Given the description of an element on the screen output the (x, y) to click on. 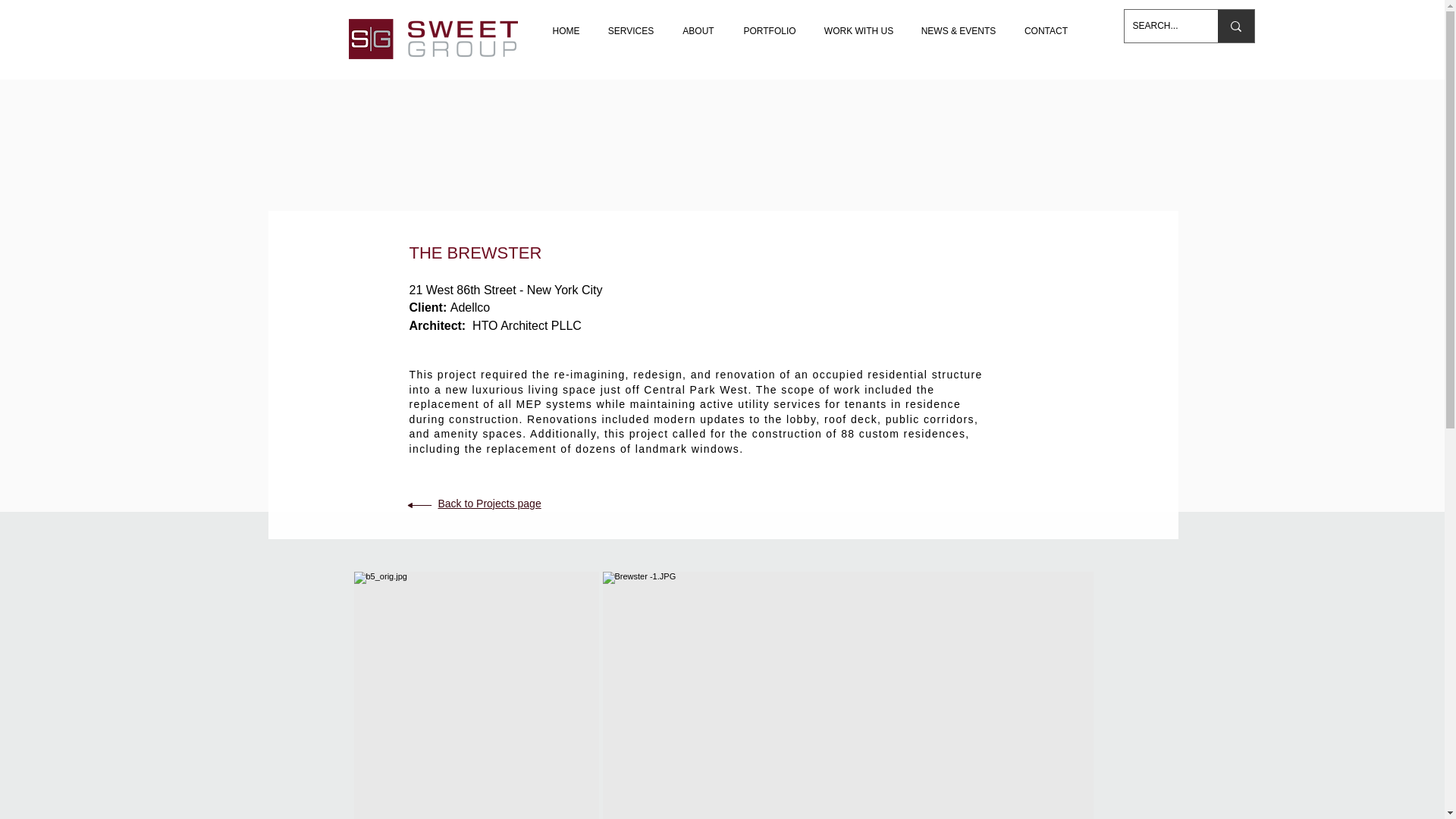
WORK WITH US (858, 24)
HOME (566, 24)
SERVICES (631, 24)
Back to Projects page (489, 503)
PORTFOLIO (769, 24)
CONTACT (1046, 24)
ABOUT (697, 24)
